Given the description of an element on the screen output the (x, y) to click on. 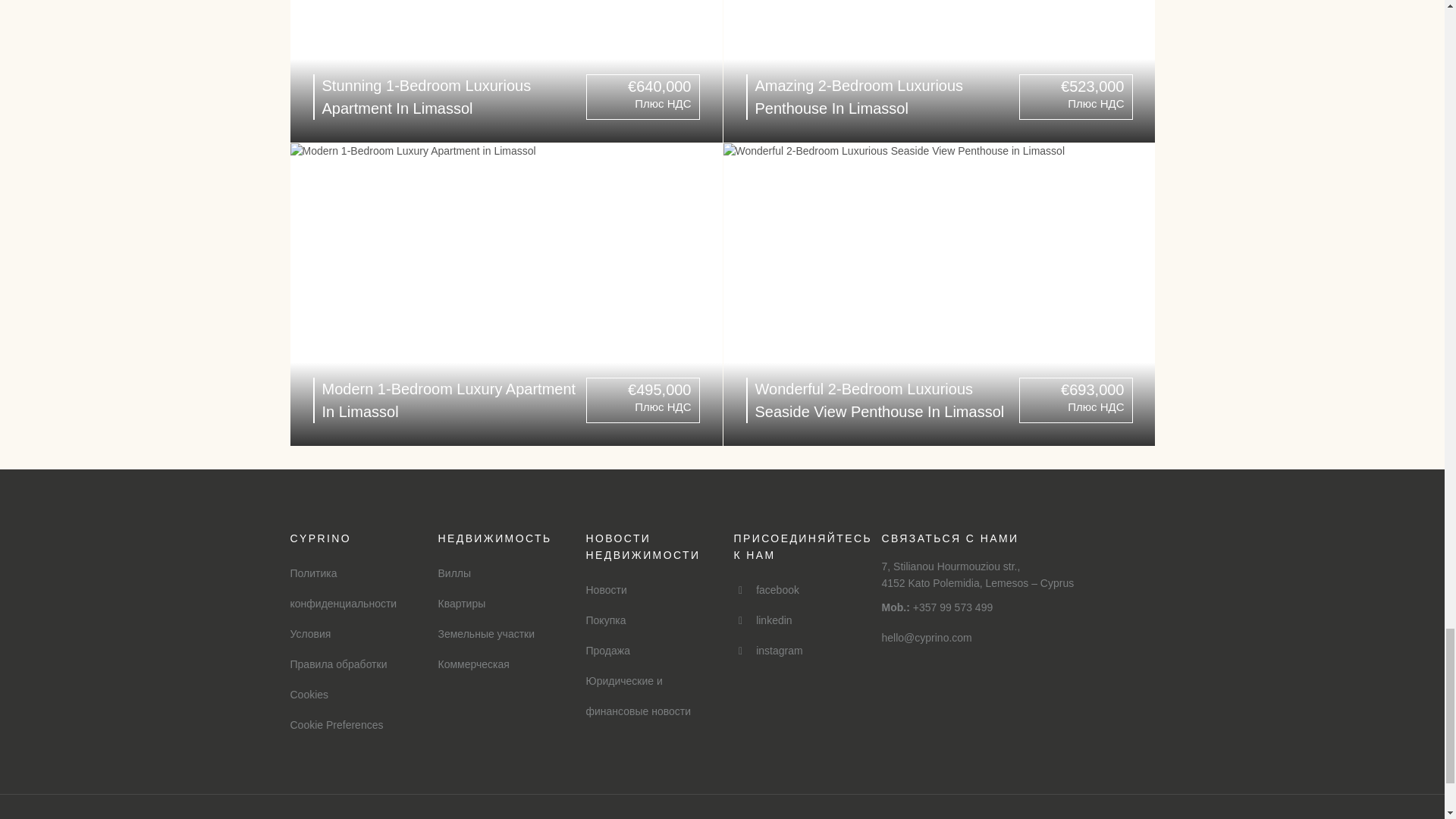
Stunning 1-Bedroom Luxurious Apartment in Limassol (505, 71)
Modern 1-Bedroom Luxury Apartment in Limassol (505, 294)
Amazing 2-Bedroom Luxurious Penthouse in Limassol (939, 71)
Cookie Preferences (335, 725)
